Given the description of an element on the screen output the (x, y) to click on. 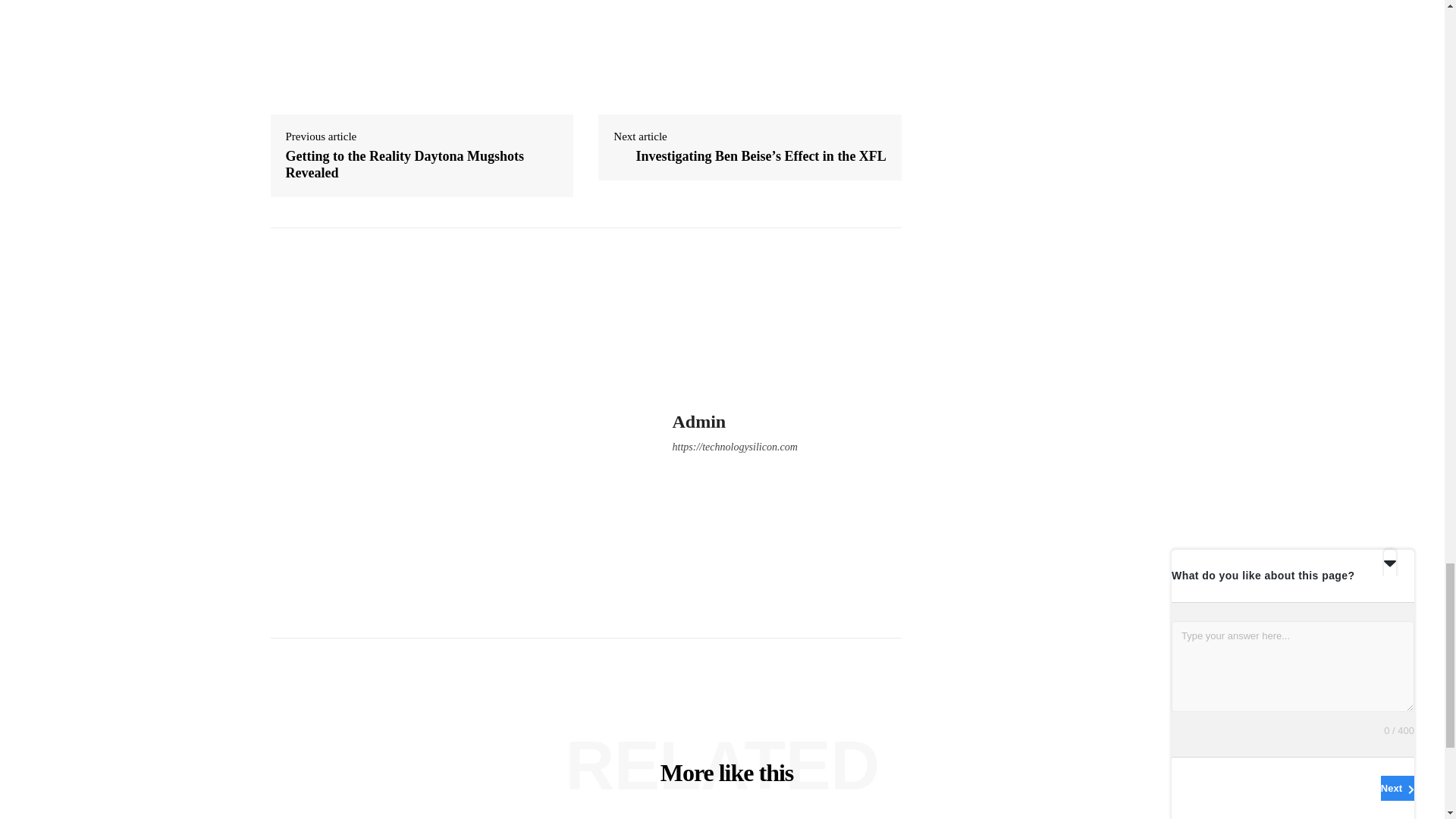
Getting to the Reality Daytona Mugshots Revealed (403, 164)
